Given the description of an element on the screen output the (x, y) to click on. 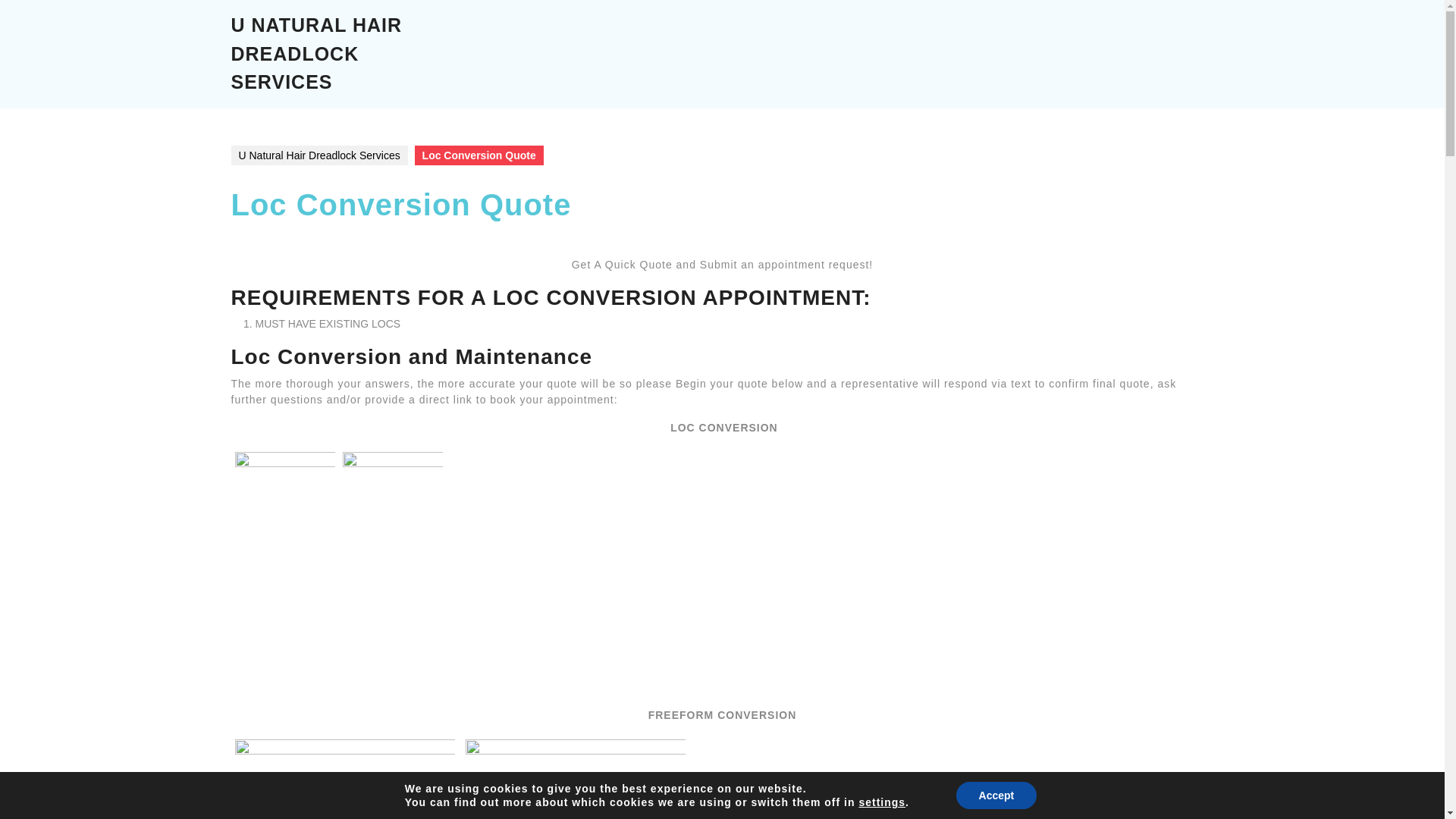
Accept (996, 795)
settings (882, 802)
U Natural Hair Dreadlock Services (318, 155)
U NATURAL HAIR DREADLOCK SERVICES (315, 53)
